Given the description of an element on the screen output the (x, y) to click on. 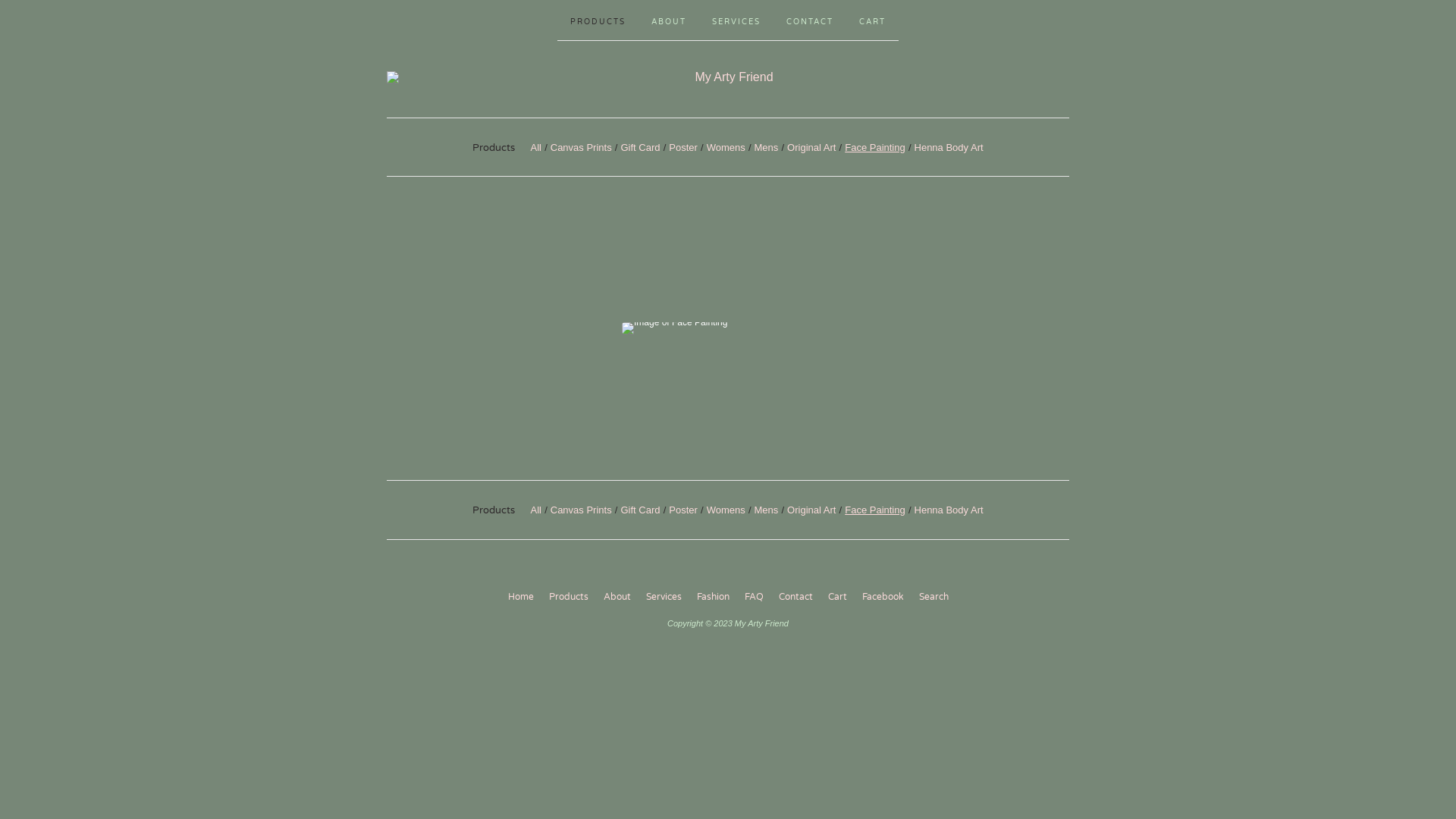
Home Element type: text (520, 597)
Original Art Element type: text (811, 146)
View Face Painting Element type: hover (727, 328)
Gift Card Element type: text (639, 509)
Products Element type: text (568, 597)
Henna Body Art Element type: text (948, 509)
ABOUT Element type: text (668, 20)
Services Element type: text (663, 597)
Mens Element type: text (766, 509)
All Element type: text (535, 509)
SERVICES Element type: text (736, 20)
PRODUCTS Element type: text (597, 20)
Womens Element type: text (725, 146)
Mens Element type: text (766, 146)
Canvas Prints Element type: text (580, 146)
FAQ Element type: text (753, 597)
Search Element type: text (933, 597)
Poster Element type: text (682, 509)
CONTACT Element type: text (809, 20)
Contact Element type: text (794, 597)
Face Painting Element type: text (874, 509)
Canvas Prints Element type: text (580, 509)
Facebook Element type: text (882, 597)
Original Art Element type: text (811, 509)
Poster Element type: text (682, 146)
Womens Element type: text (725, 509)
Fashion Element type: text (712, 597)
Gift Card Element type: text (639, 146)
About Element type: text (617, 597)
Henna Body Art Element type: text (948, 146)
All Element type: text (535, 146)
Powered by Big Cartel Element type: text (727, 652)
CART Element type: text (872, 20)
Cart Element type: text (837, 597)
Face Painting Element type: text (874, 146)
